Given the description of an element on the screen output the (x, y) to click on. 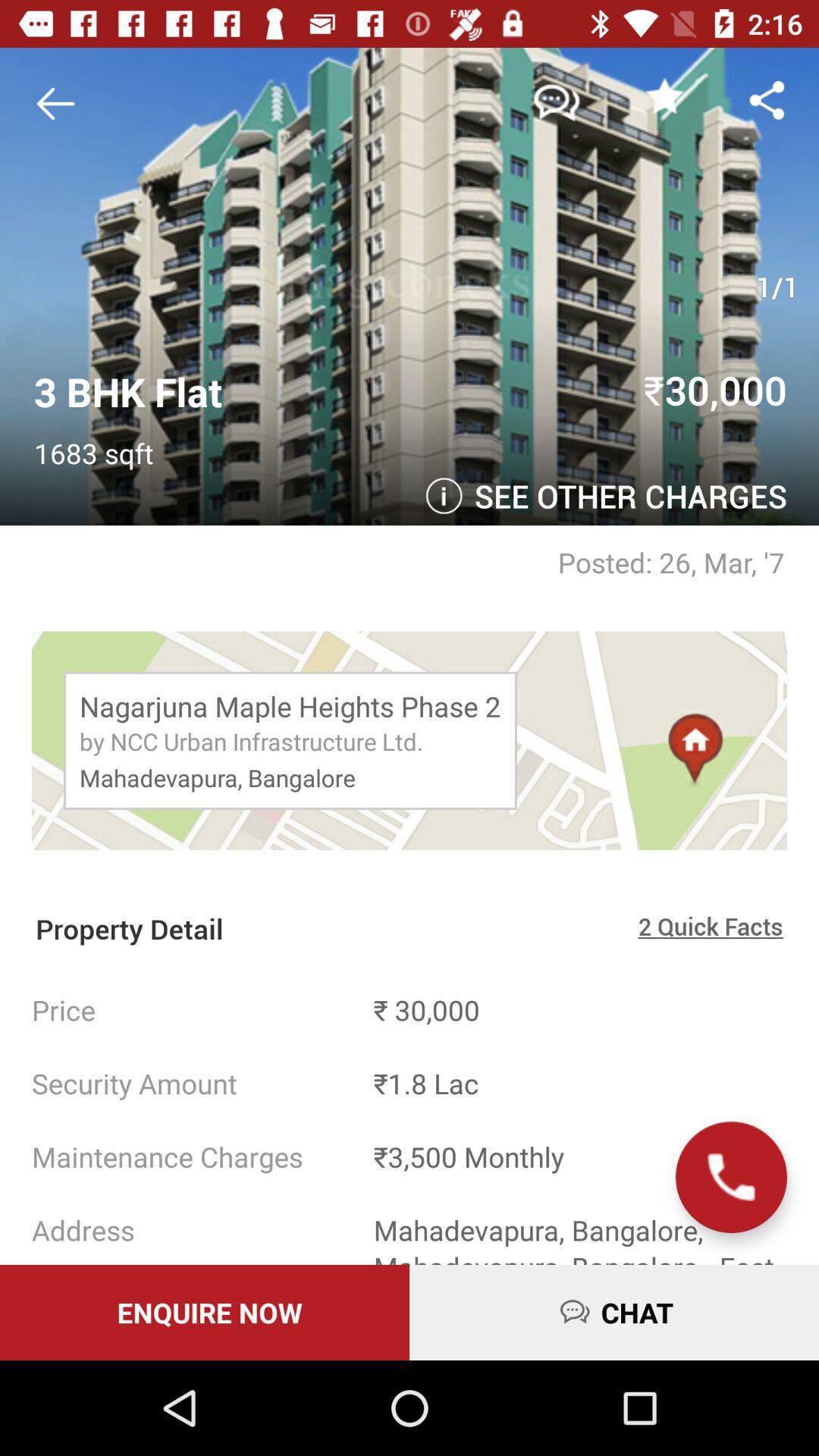
share item (766, 99)
